Given the description of an element on the screen output the (x, y) to click on. 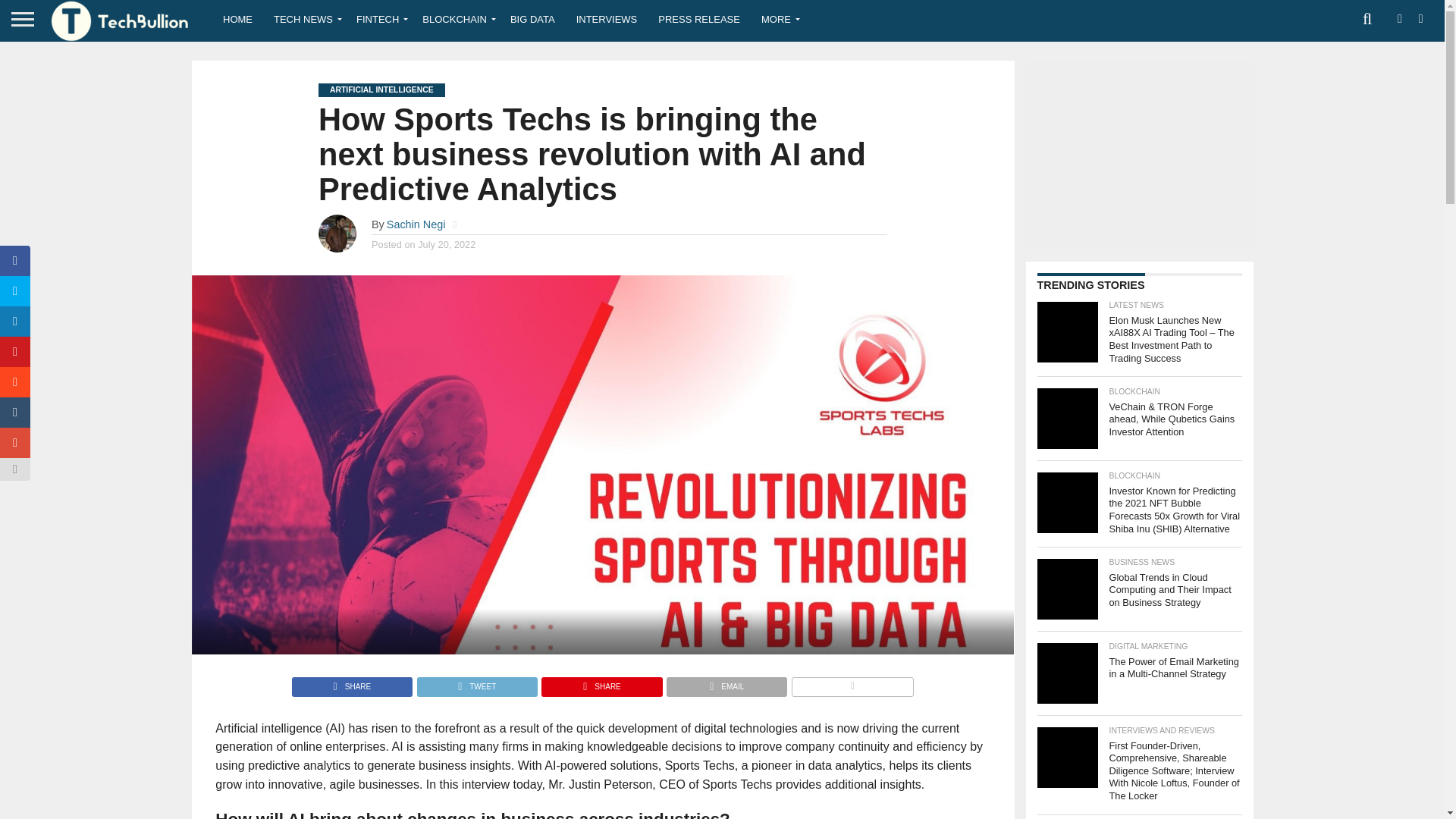
Share on Facebook (352, 682)
Posts by Sachin Negi (416, 224)
Tweet This Post (476, 682)
Pin This Post (601, 682)
